Given the description of an element on the screen output the (x, y) to click on. 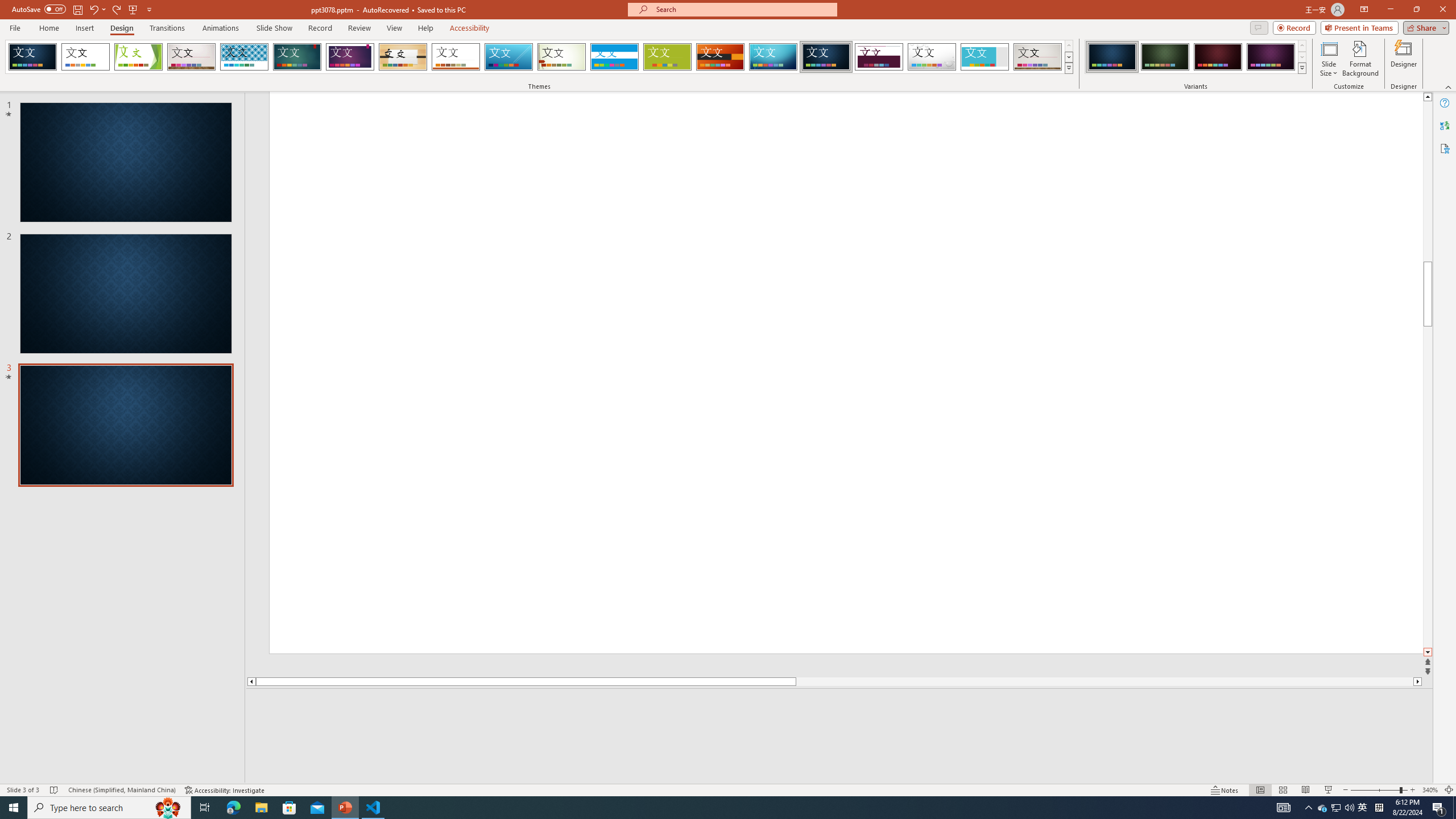
Ion Boardroom (350, 56)
Dividend (879, 56)
Damask Variant 4 (1270, 56)
